Given the description of an element on the screen output the (x, y) to click on. 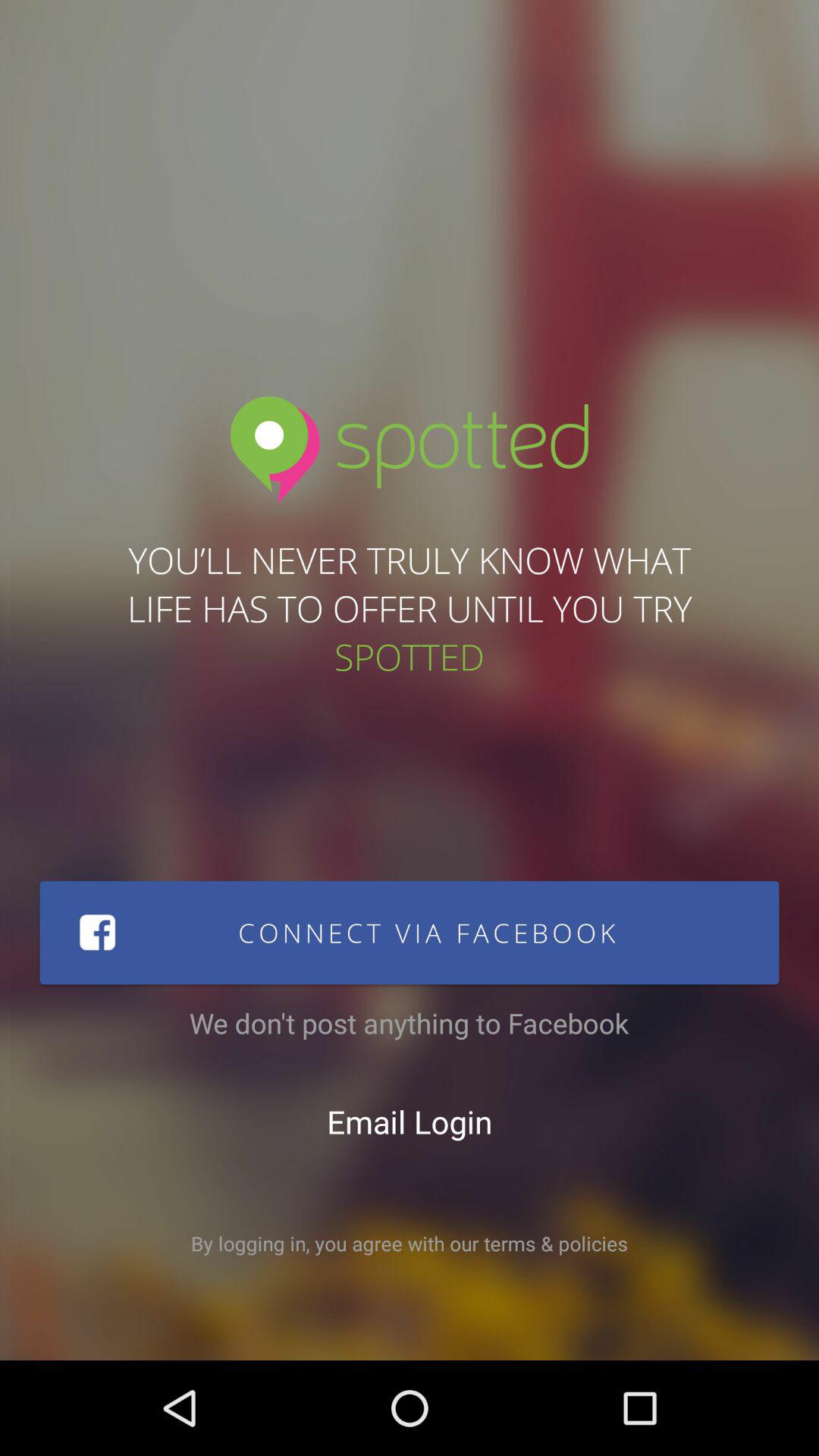
turn on item below the we don t (409, 1121)
